Given the description of an element on the screen output the (x, y) to click on. 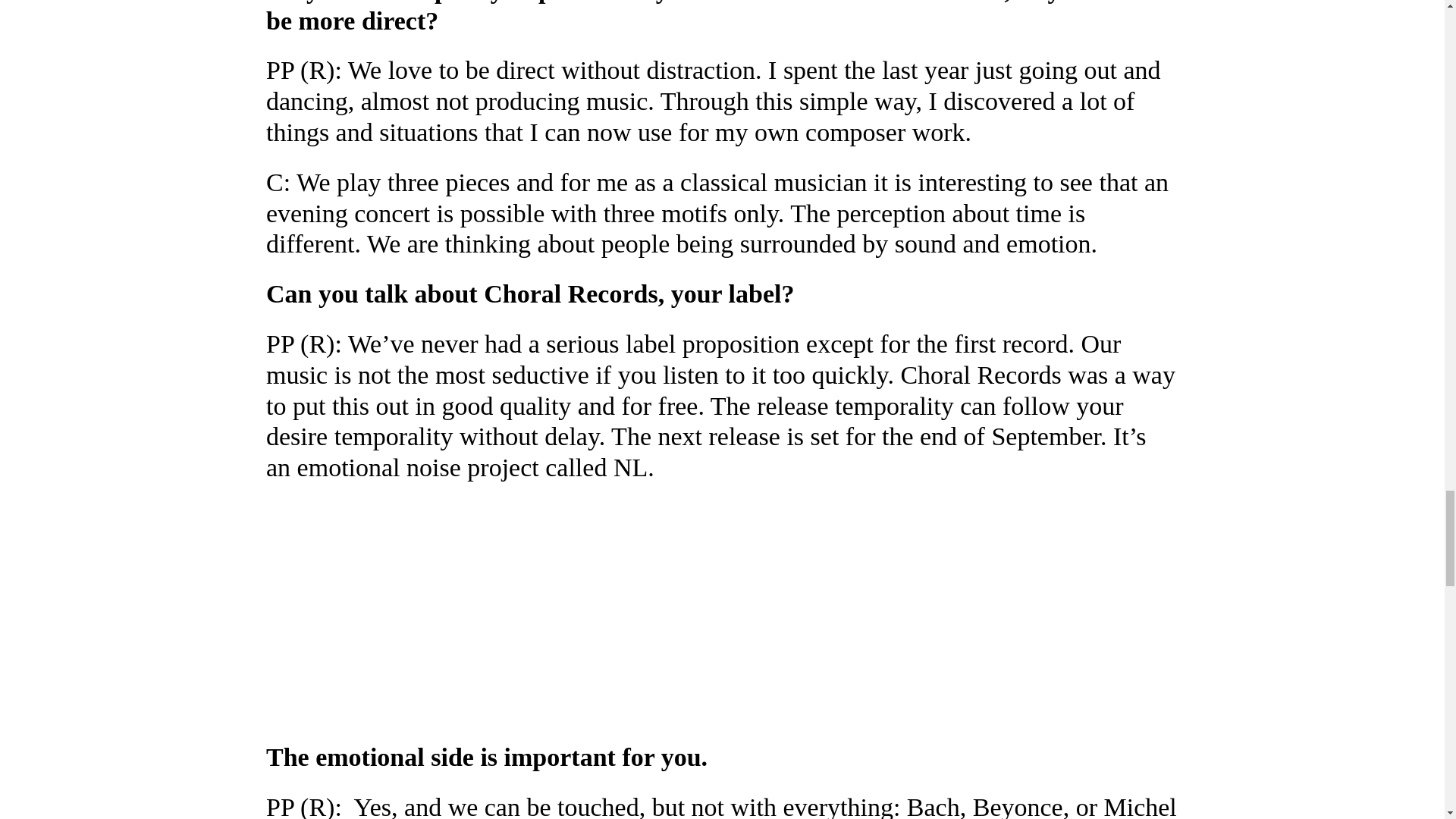
Plapla Pinky plays Bach BWV582 (455, 608)
